Given the description of an element on the screen output the (x, y) to click on. 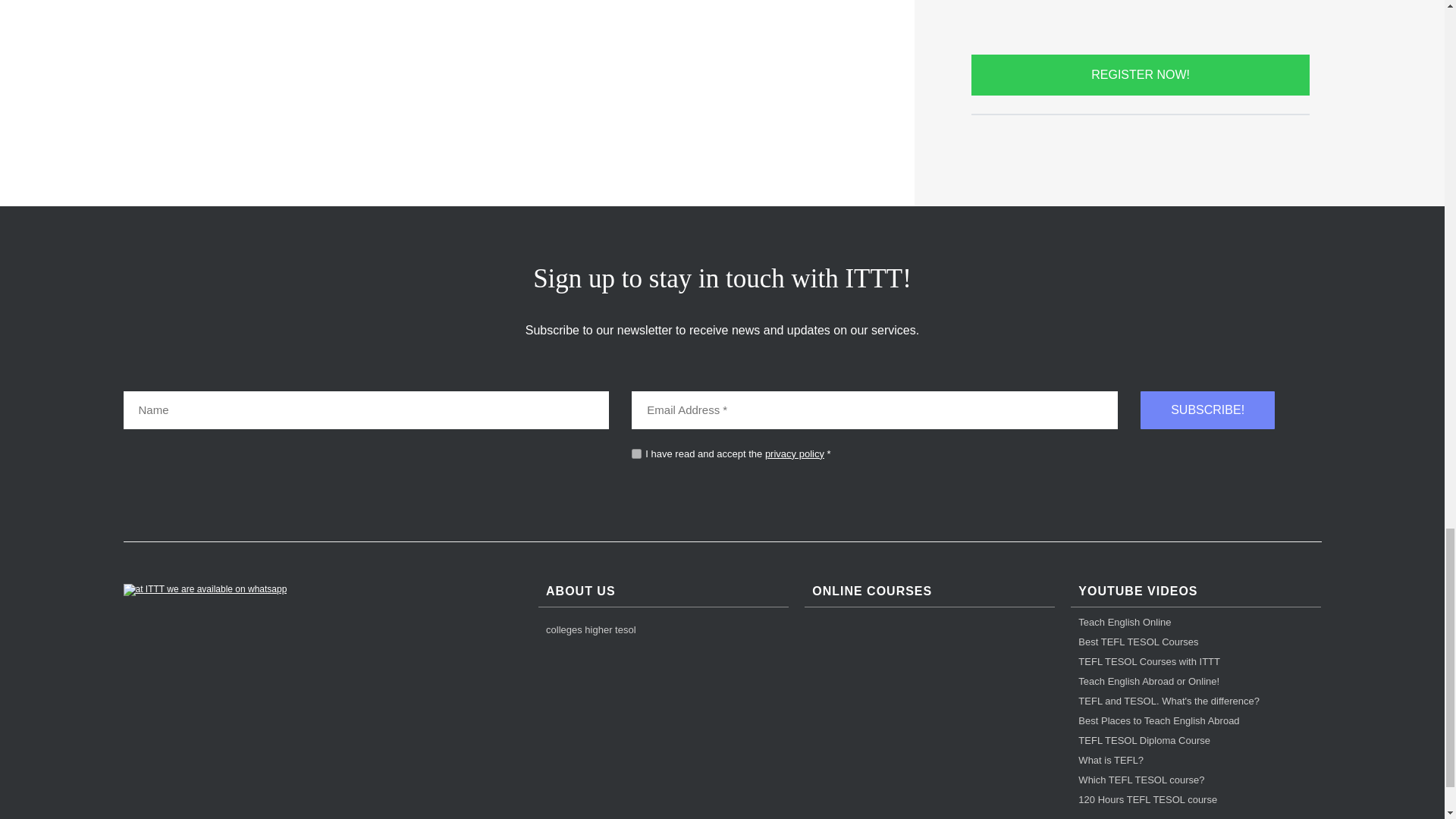
1 (636, 453)
